Given the description of an element on the screen output the (x, y) to click on. 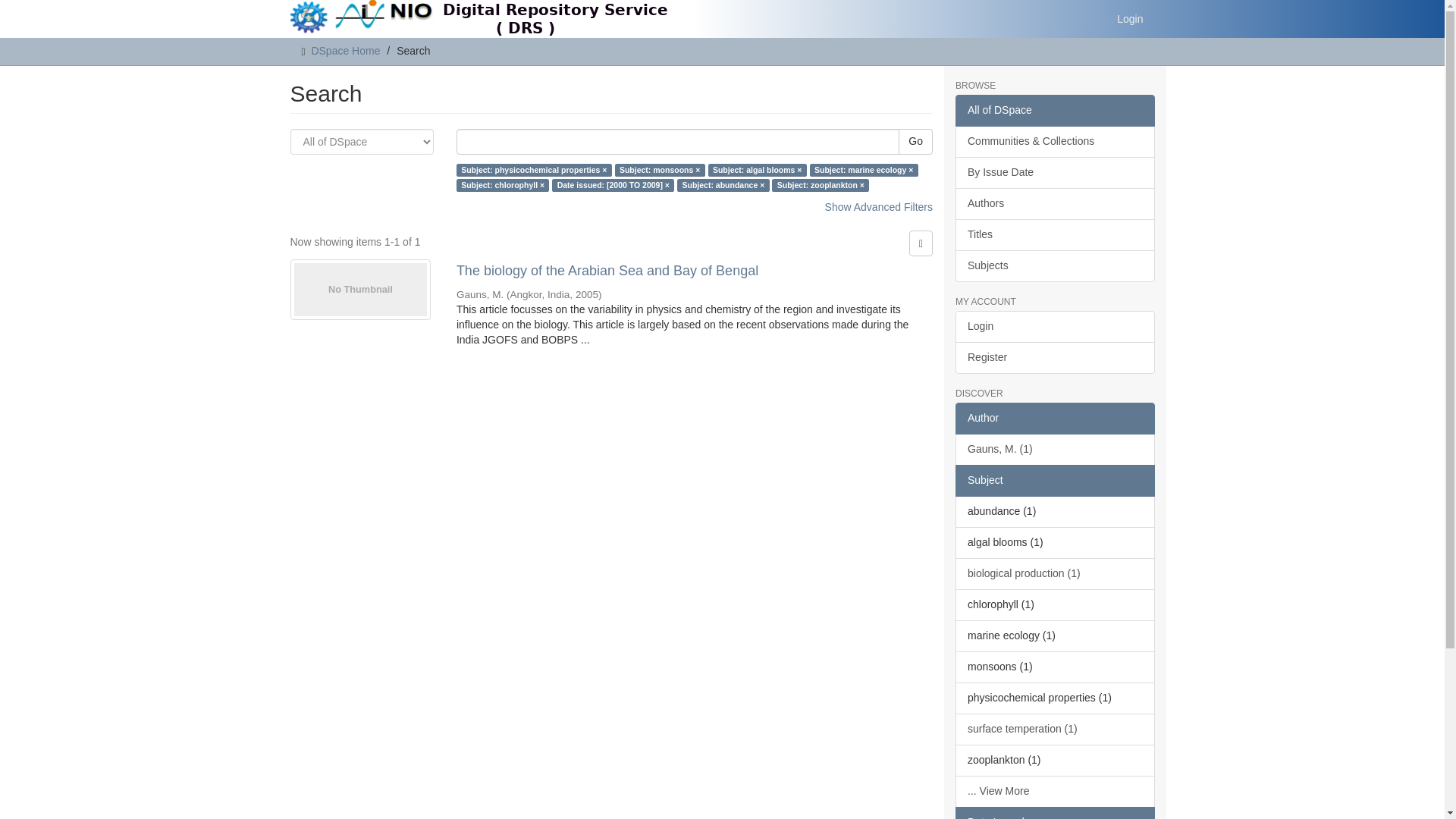
DSpace Home (345, 50)
Show Advanced Filters (879, 206)
Login (1129, 18)
Go (915, 141)
